Given the description of an element on the screen output the (x, y) to click on. 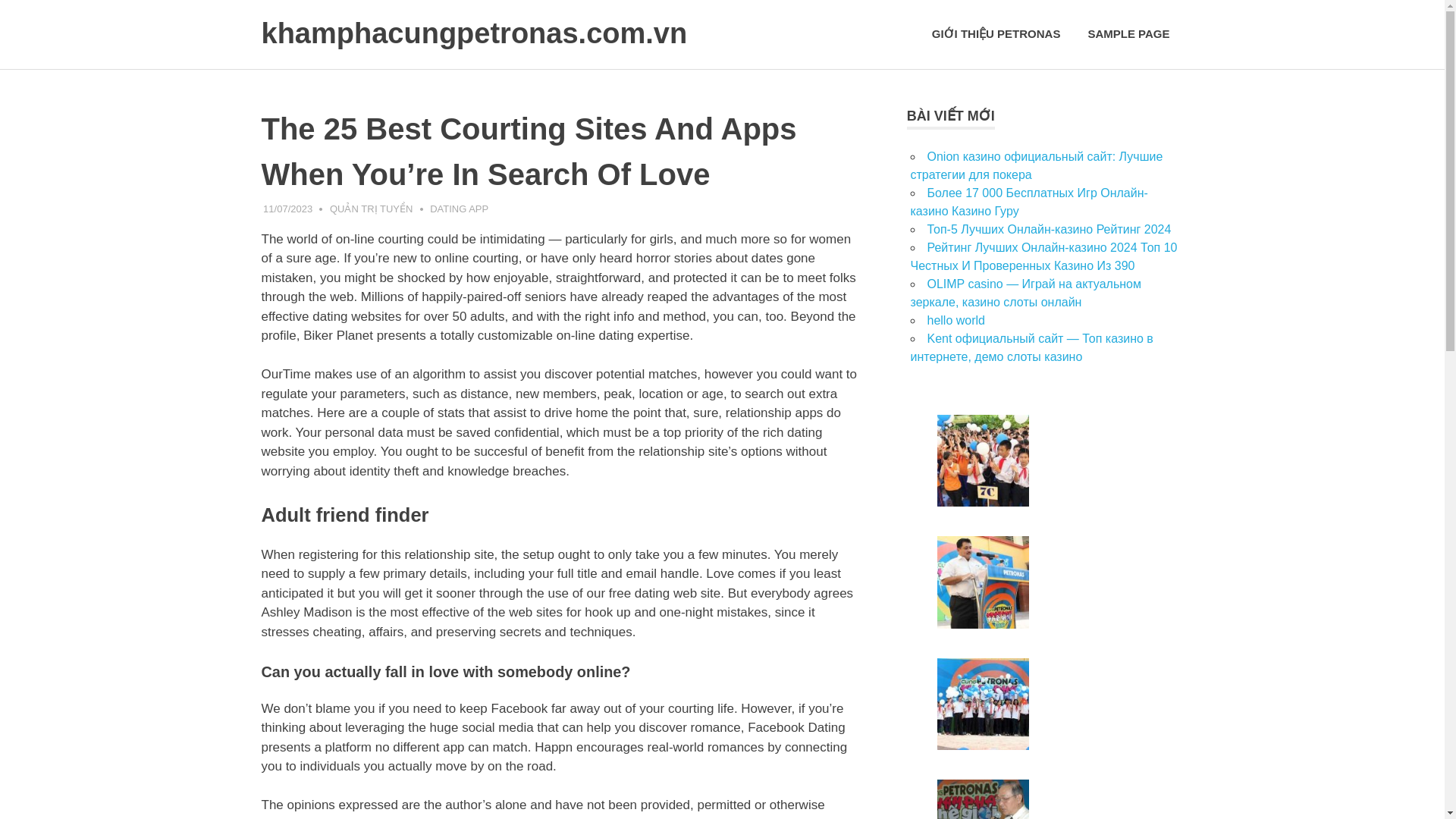
khamphacungpetronas.com.vn (473, 38)
Dating Web Reviews (417, 818)
00:14 (288, 208)
hello world (955, 319)
DATING APP (458, 208)
khamphacungpetronas.com.vn (473, 38)
SAMPLE PAGE (1128, 34)
